Given the description of an element on the screen output the (x, y) to click on. 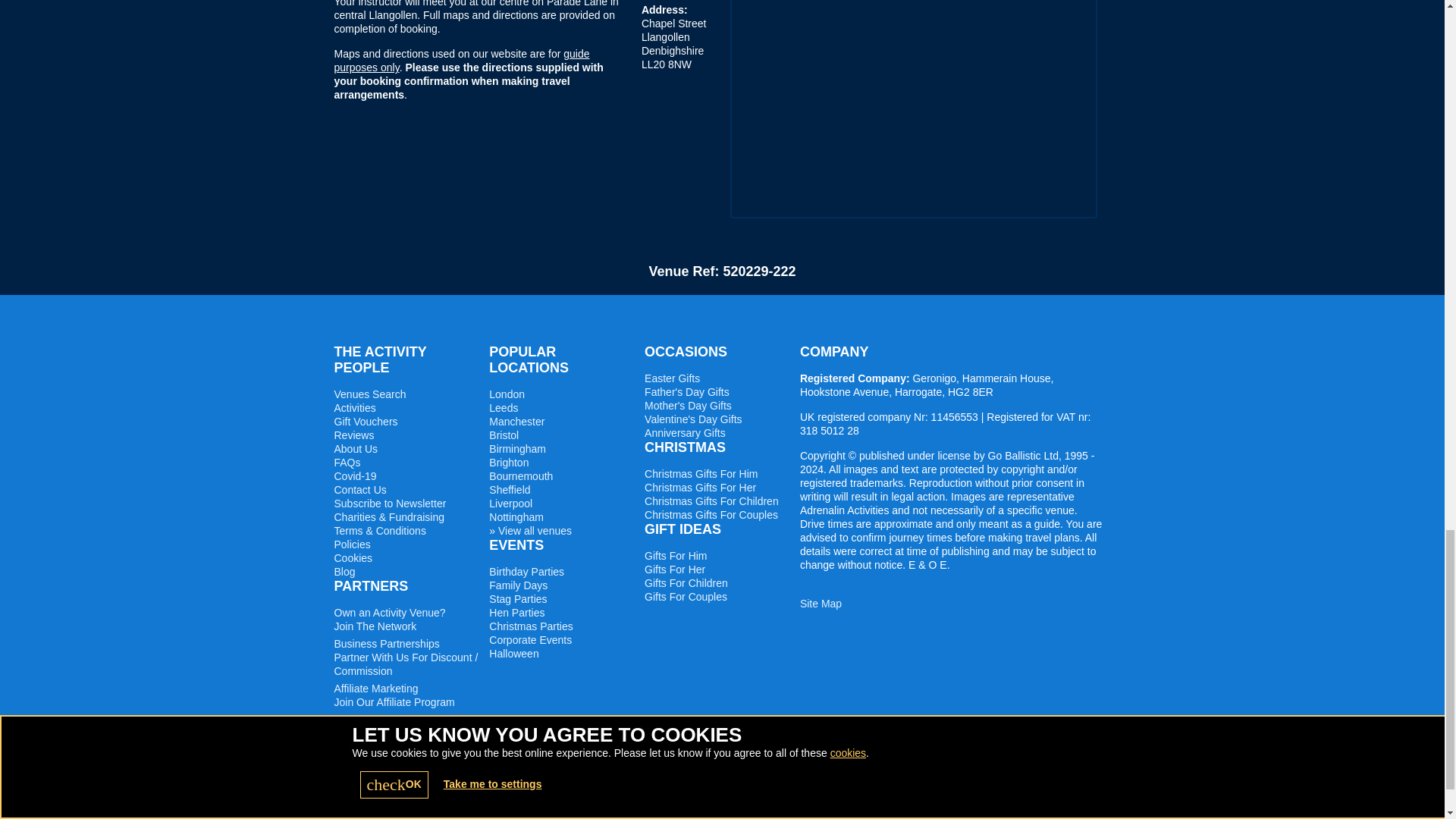
covid statement (354, 476)
About Us (355, 449)
Venues Search (369, 394)
Reviews (353, 435)
FAQs (346, 462)
Gift Vouchers (365, 421)
Activities (354, 408)
